Given the description of an element on the screen output the (x, y) to click on. 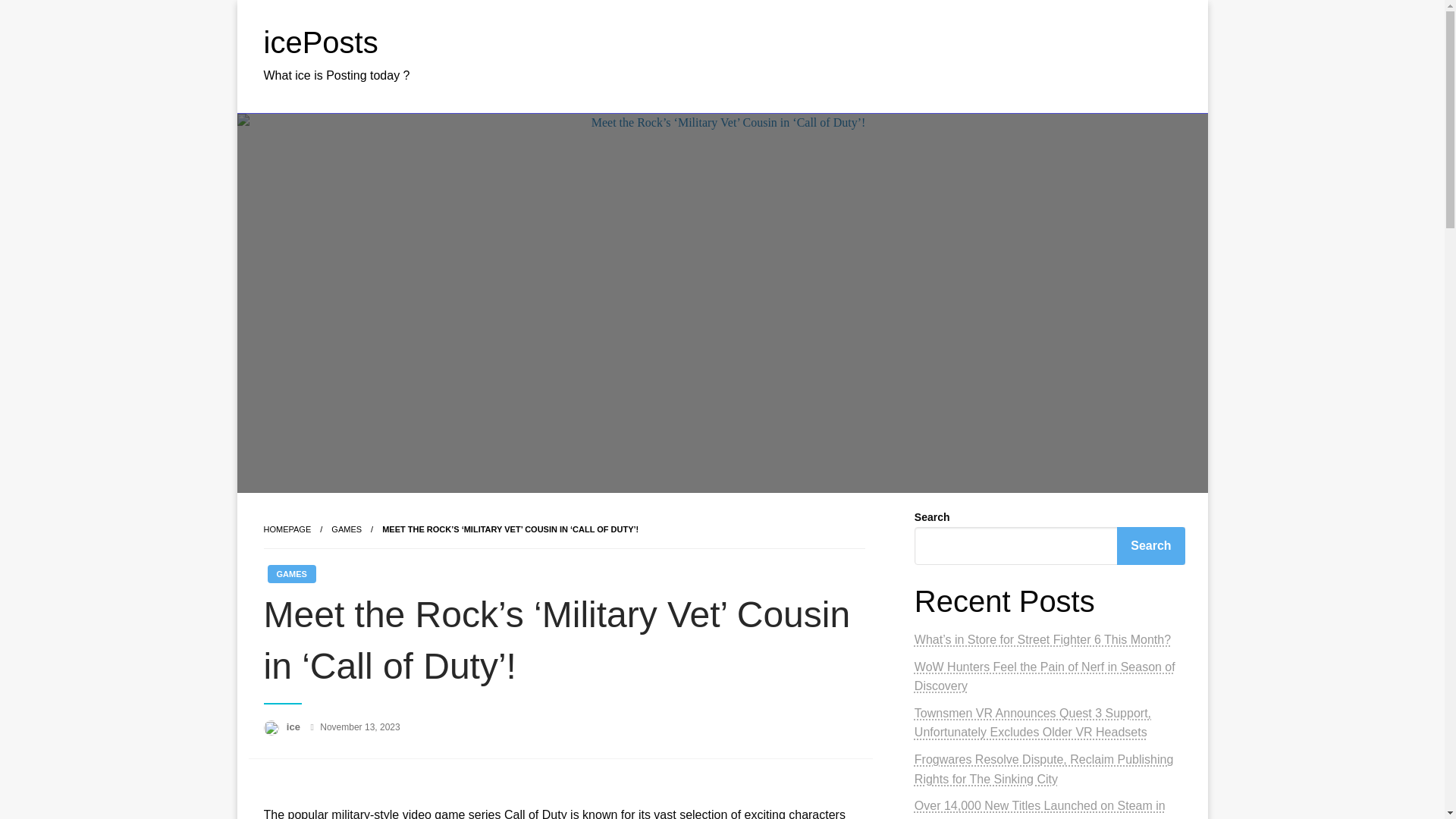
November 13, 2023 (359, 726)
HOMEPAGE (287, 528)
ice (294, 726)
icePosts (320, 41)
ice (294, 726)
Homepage (287, 528)
GAMES (346, 528)
GAMES (290, 574)
WoW Hunters Feel the Pain of Nerf in Season of Discovery (1044, 676)
